Given the description of an element on the screen output the (x, y) to click on. 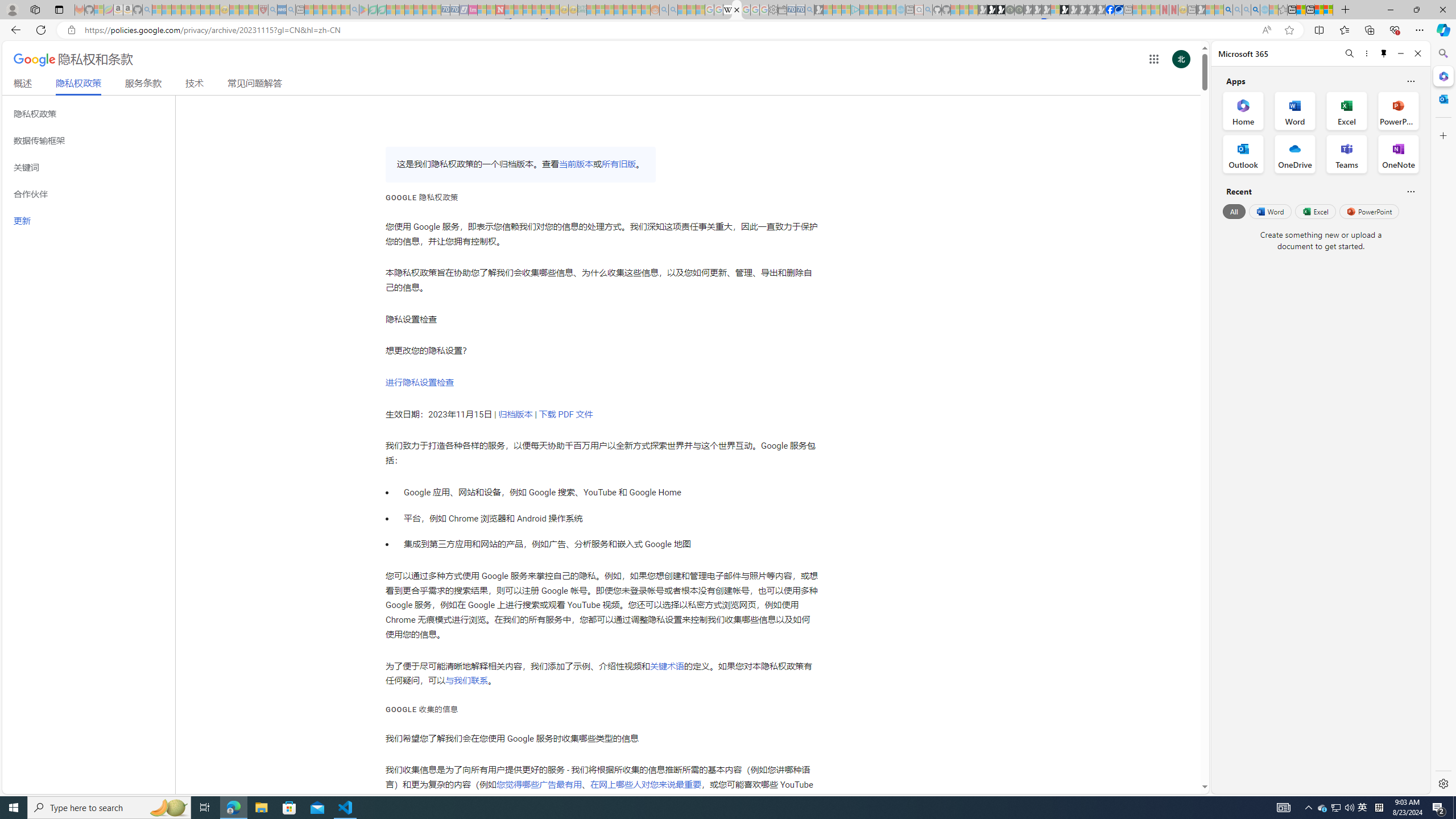
PowerPoint (1369, 210)
AirNow.gov (1118, 9)
Teams Office App (1346, 154)
